Given the description of an element on the screen output the (x, y) to click on. 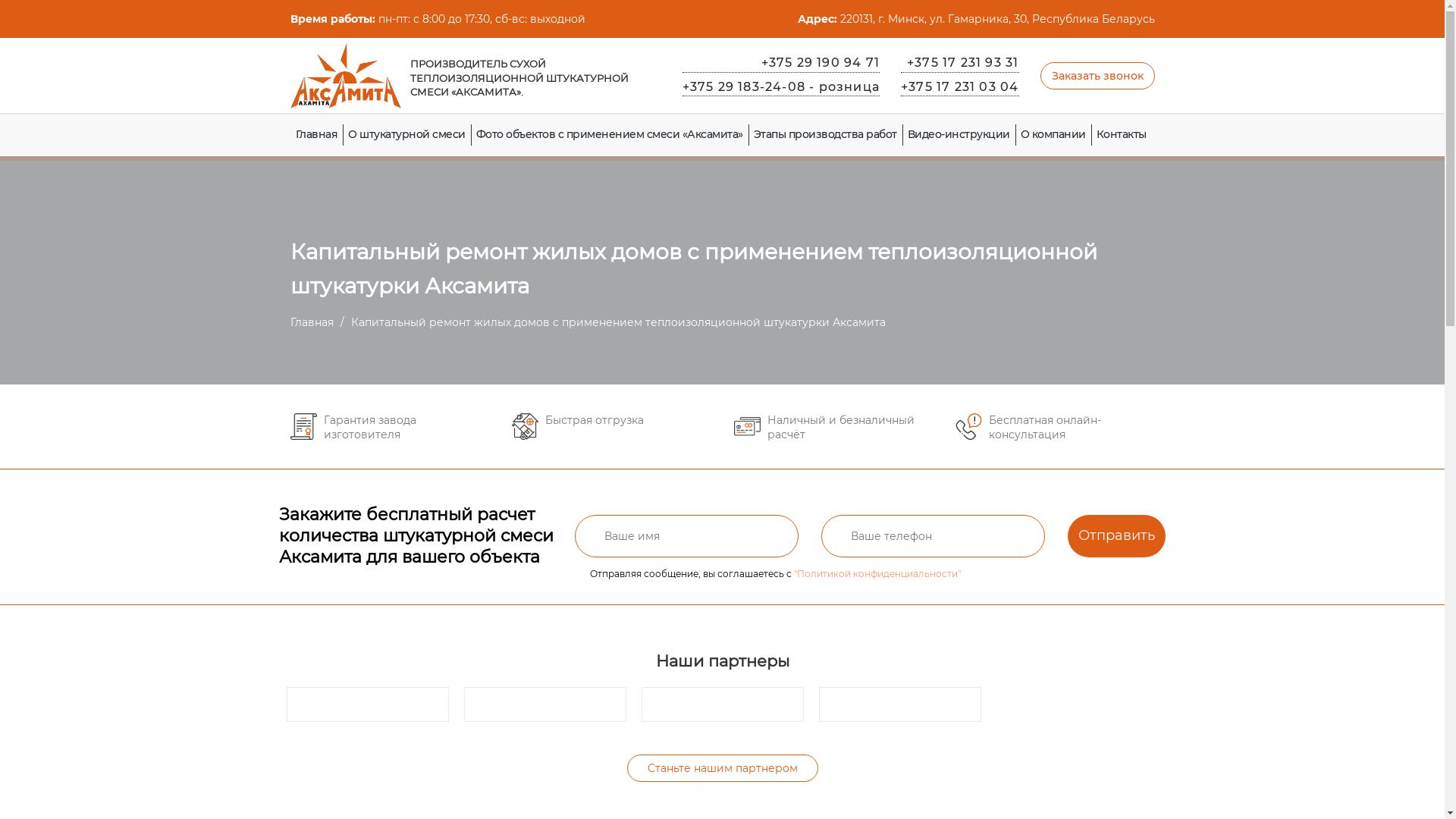
+375 17 231 93 31 Element type: text (959, 63)
+375 17 231 03 04 Element type: text (959, 87)
+375 29 190 94 71 Element type: text (780, 63)
